Given the description of an element on the screen output the (x, y) to click on. 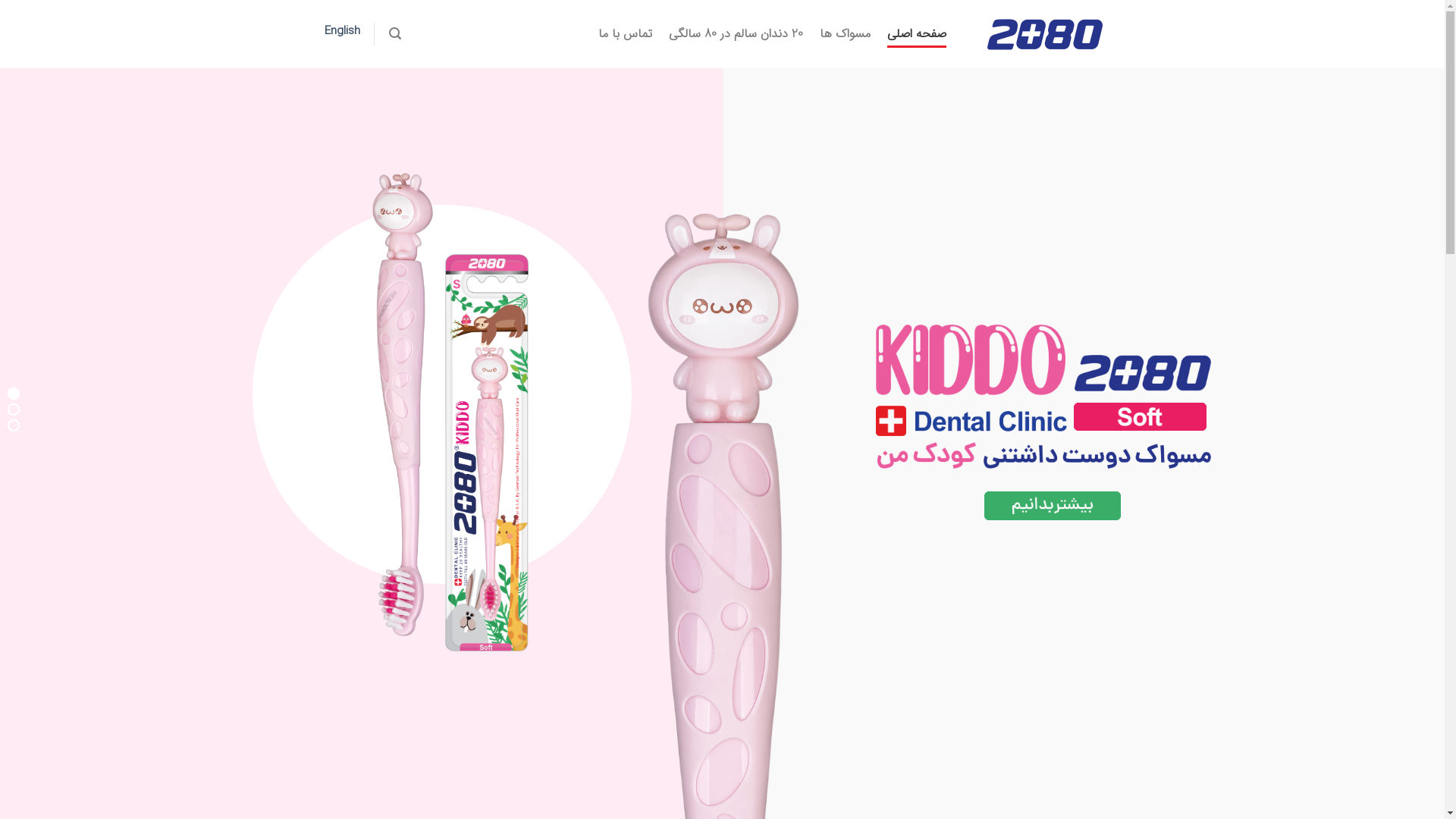
English Element type: text (342, 30)
